Given the description of an element on the screen output the (x, y) to click on. 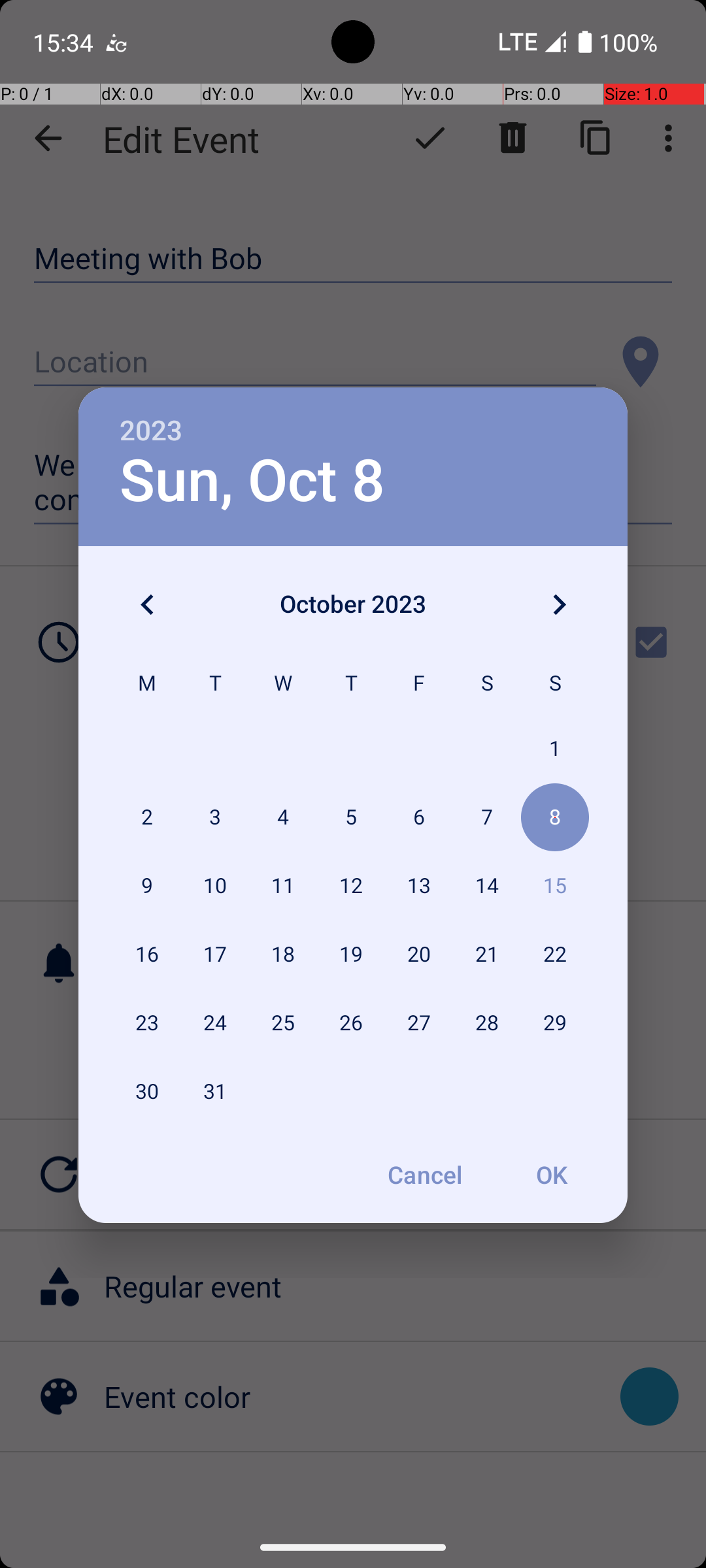
Sun, Oct 8 Element type: android.widget.TextView (252, 480)
